Given the description of an element on the screen output the (x, y) to click on. 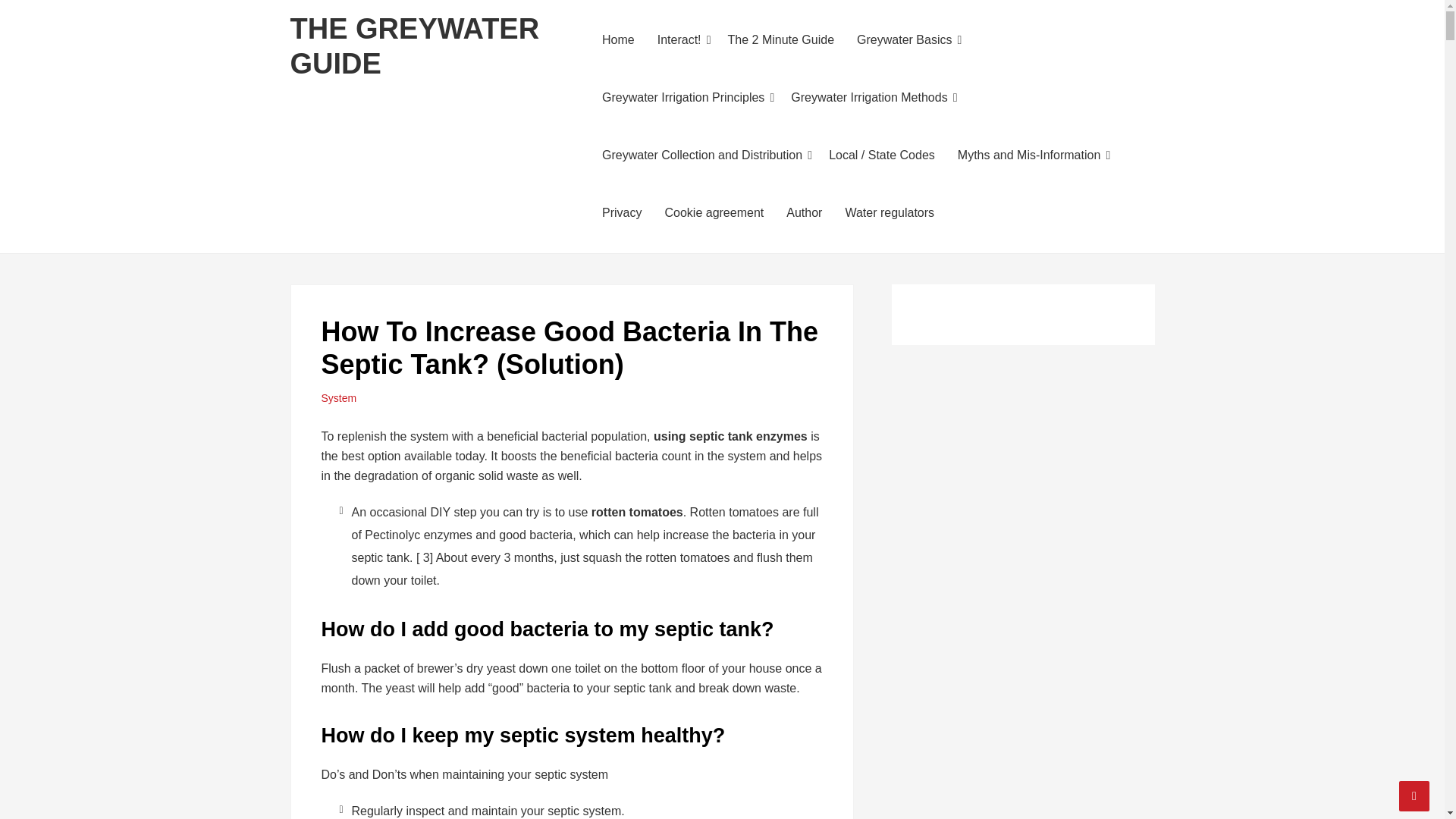
The 2 Minute Guide (780, 39)
THE GREYWATER GUIDE (413, 46)
Greywater Irrigation Principles (684, 97)
Myths and Mis-Information (1031, 155)
Greywater Irrigation Methods (870, 97)
Home (618, 39)
Greywater Basics (905, 39)
Interact! (681, 39)
Greywater Collection and Distribution (703, 155)
